Given the description of an element on the screen output the (x, y) to click on. 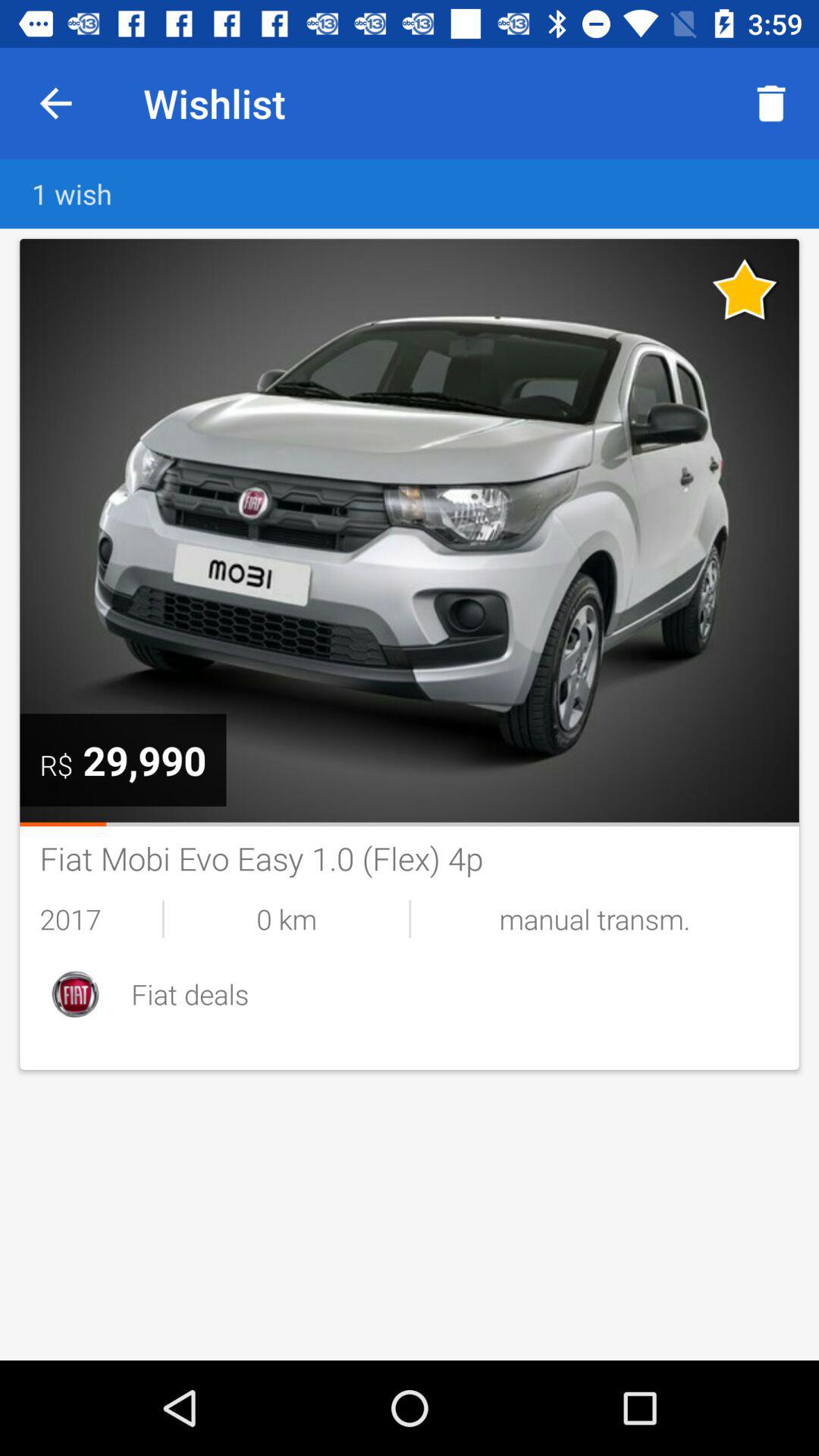
turn on item to the left of wishlist item (55, 103)
